Given the description of an element on the screen output the (x, y) to click on. 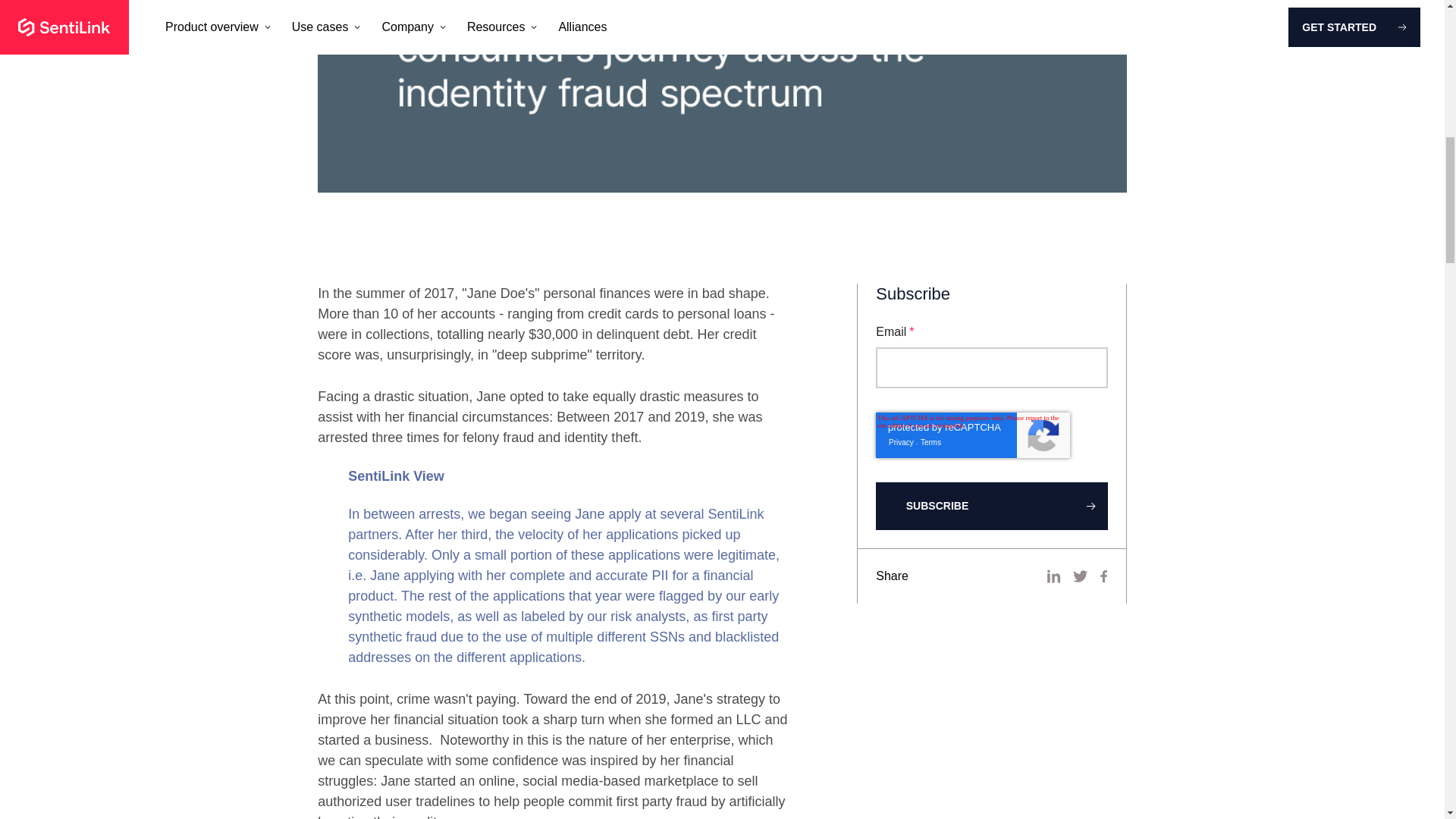
Subscribe (992, 505)
reCAPTCHA (973, 434)
